Given the description of an element on the screen output the (x, y) to click on. 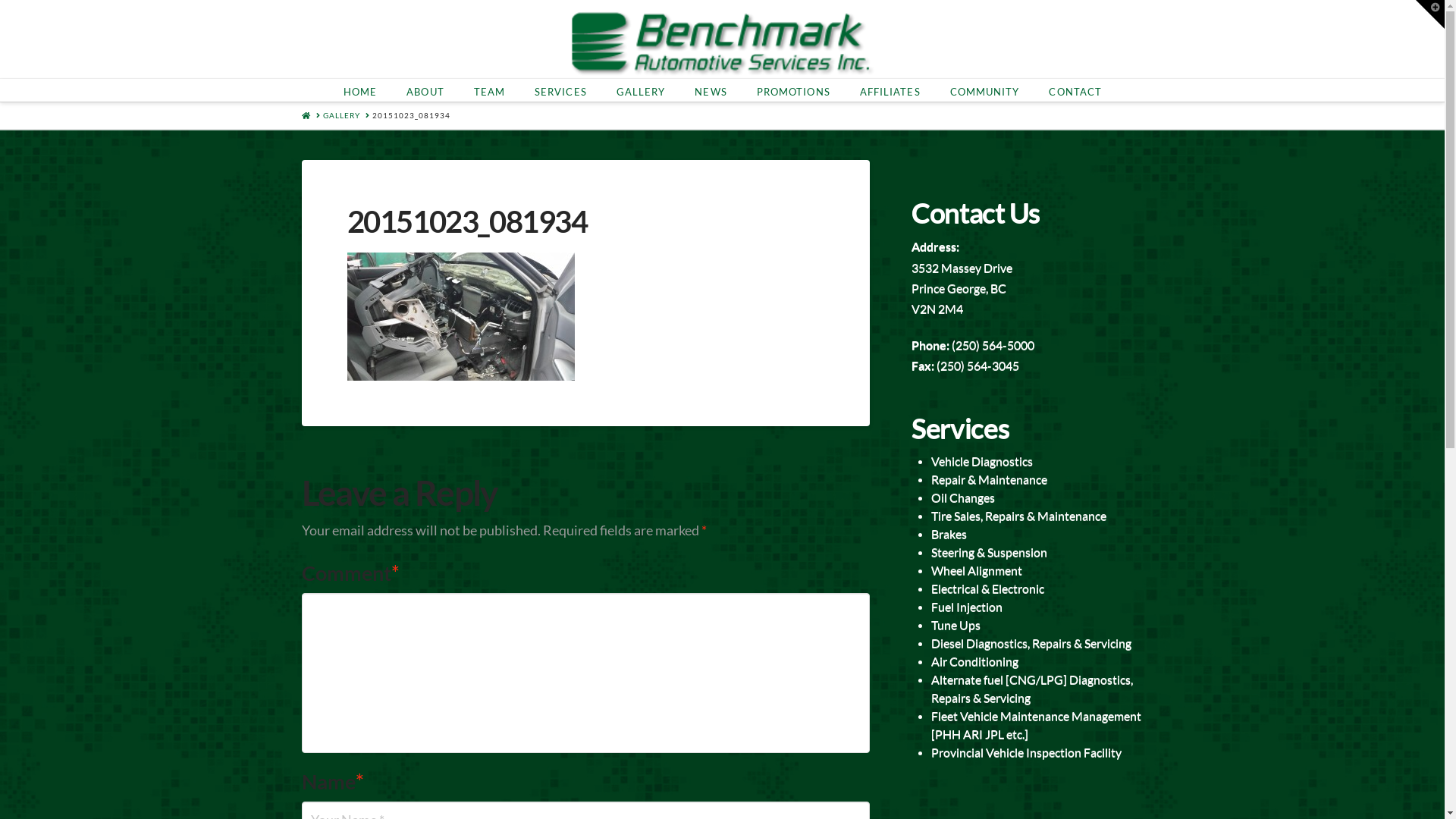
COMMUNITY Element type: text (984, 89)
ABOUT Element type: text (424, 89)
SERVICES Element type: text (560, 89)
GALLERY Element type: text (640, 89)
CONTACT Element type: text (1074, 89)
HOME Element type: text (359, 89)
NEWS Element type: text (709, 89)
HOME Element type: text (305, 114)
PROMOTIONS Element type: text (792, 89)
GALLERY Element type: text (341, 114)
TEAM Element type: text (488, 89)
20151023_081934 Element type: text (410, 114)
AFFILIATES Element type: text (889, 89)
Toggle the Widgetbar Element type: text (1429, 14)
